Given the description of an element on the screen output the (x, y) to click on. 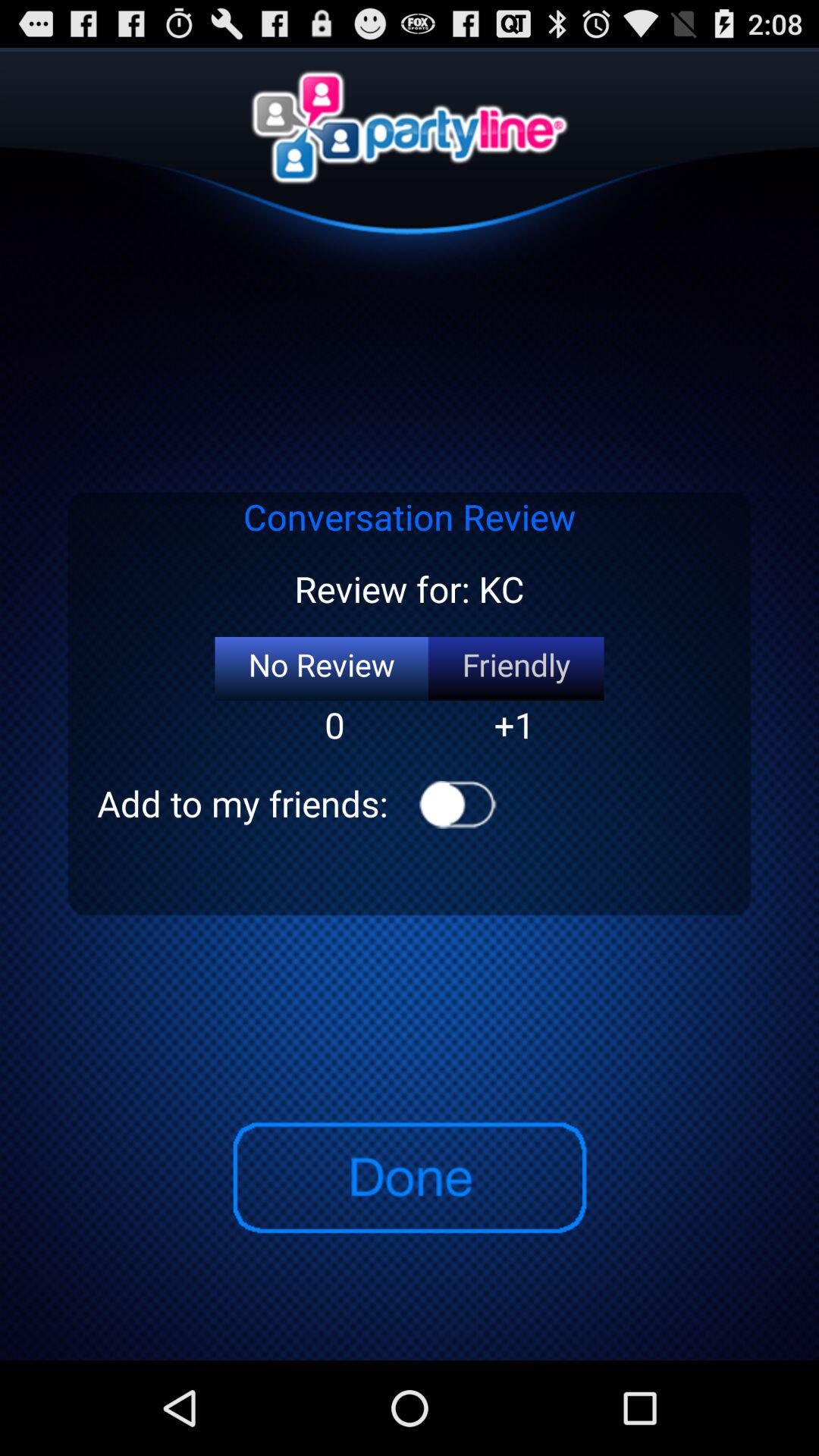
flip until friendly icon (516, 668)
